Given the description of an element on the screen output the (x, y) to click on. 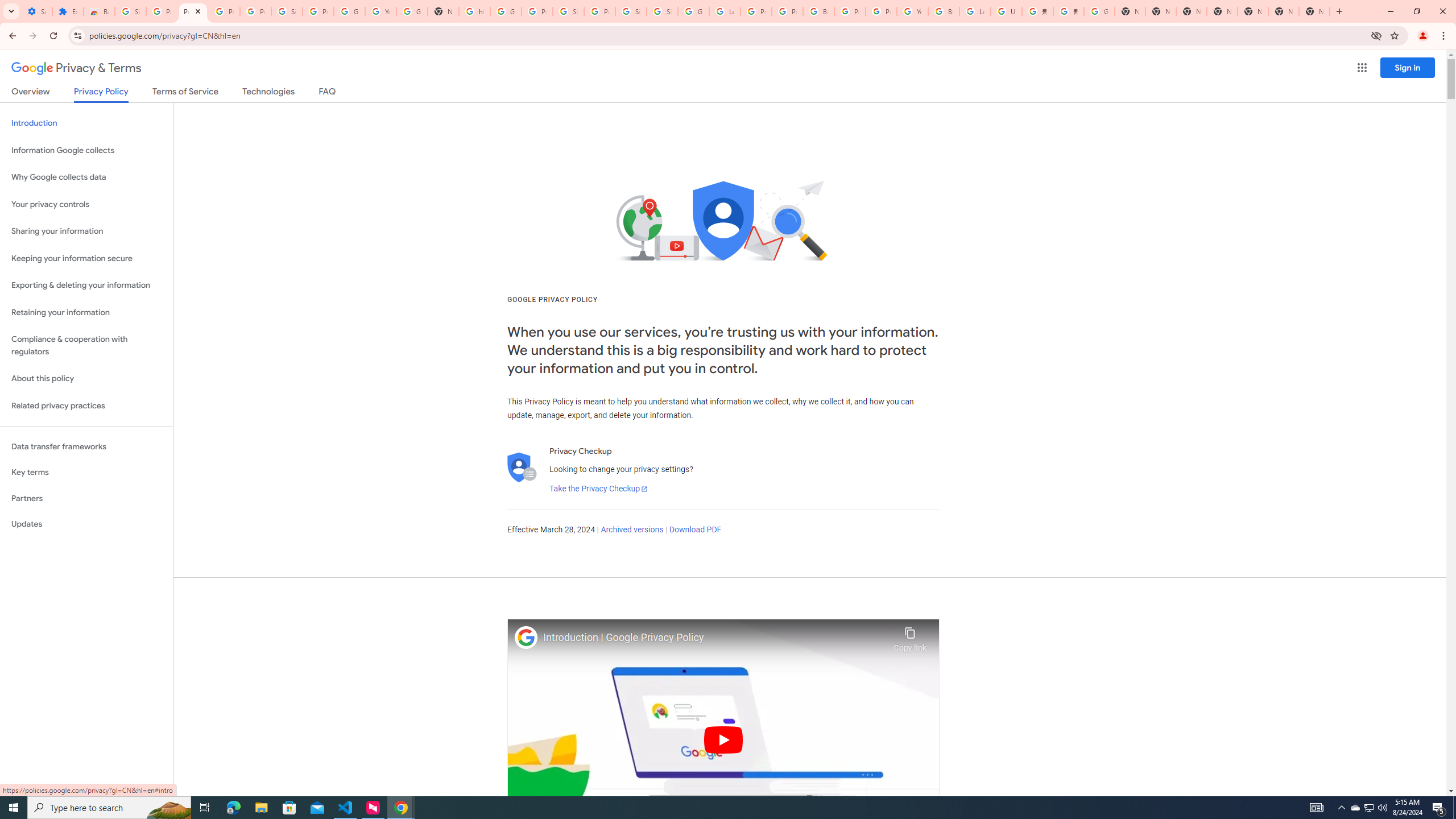
Photo image of Google (526, 636)
Google Account (349, 11)
Archived versions (631, 529)
Compliance & cooperation with regulators (86, 345)
Why Google collects data (86, 176)
Exporting & deleting your information (86, 284)
Google Images (1098, 11)
Partners (86, 497)
Sign in - Google Accounts (662, 11)
